Given the description of an element on the screen output the (x, y) to click on. 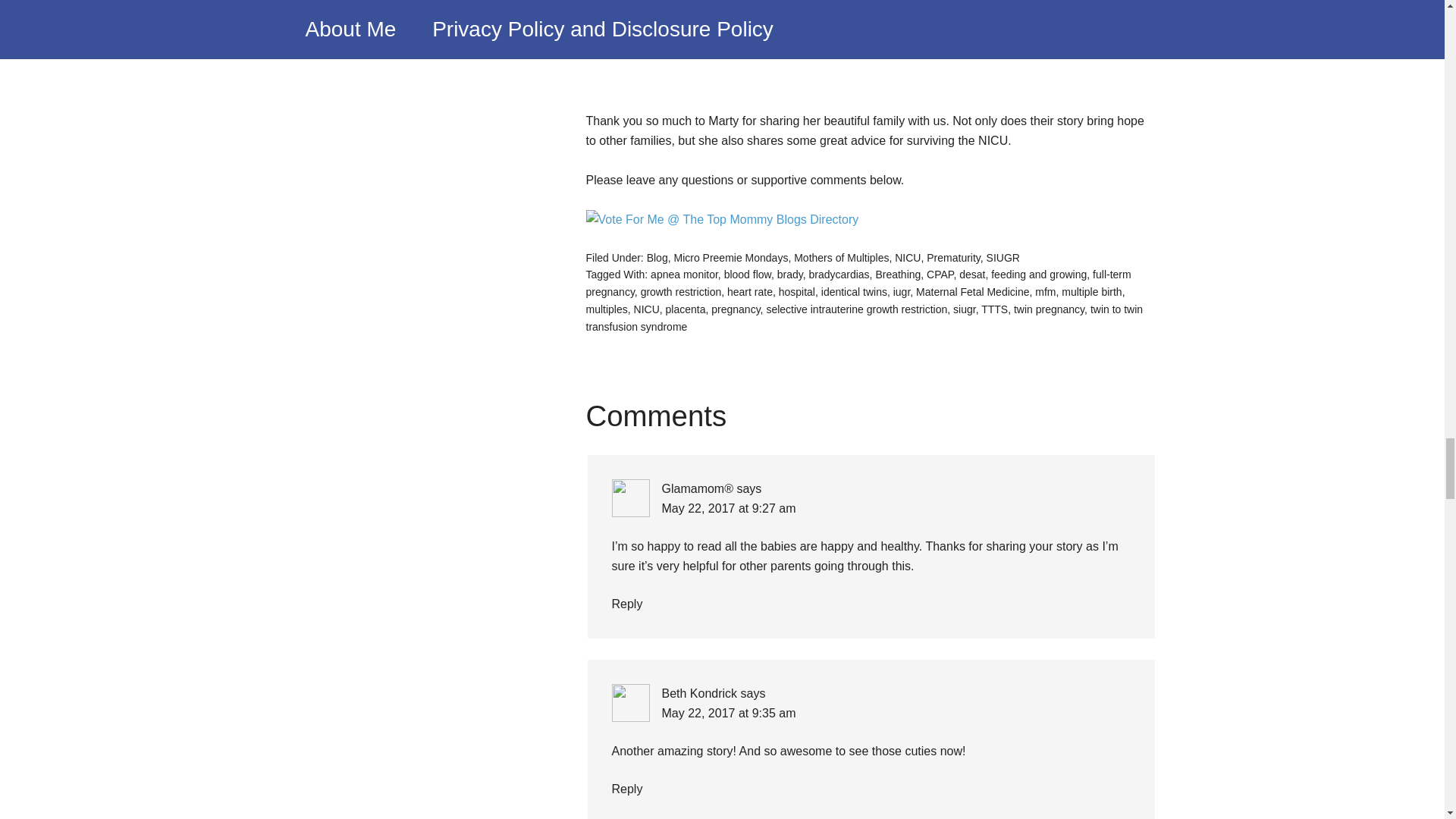
feeding and growing (1038, 274)
Blog (657, 257)
blood flow (747, 274)
heart rate (749, 291)
Prematurity (952, 257)
NICU (907, 257)
Breathing (897, 274)
desat (972, 274)
CPAP (939, 274)
growth restriction (681, 291)
